Given the description of an element on the screen output the (x, y) to click on. 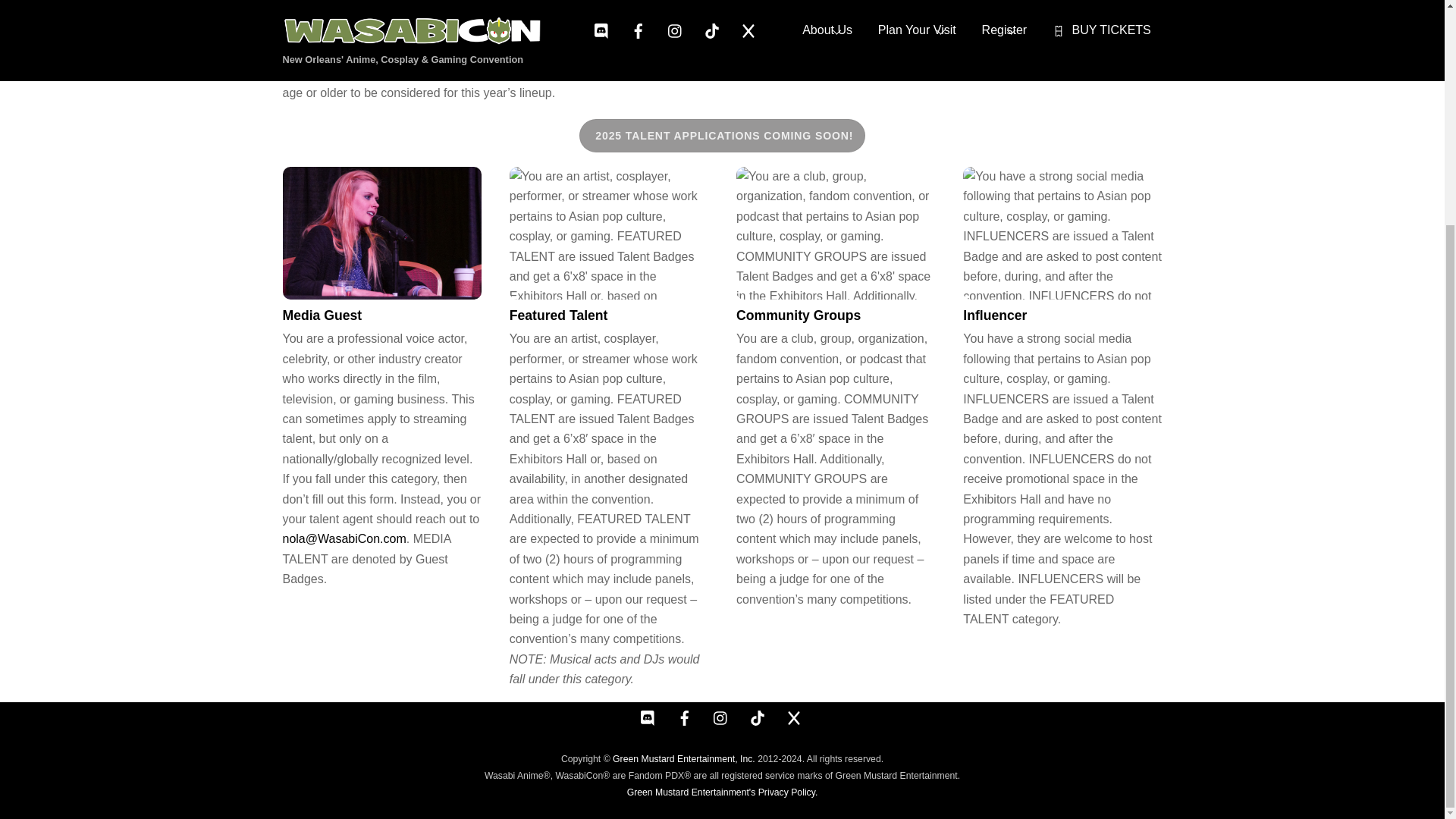
Influencer (1061, 233)
Media Guest (321, 314)
Community Groups (835, 233)
2025 TALENT APPLICATIONS COMING SOON! (721, 135)
Featured Talent (608, 233)
Media Guest (381, 233)
